Given the description of an element on the screen output the (x, y) to click on. 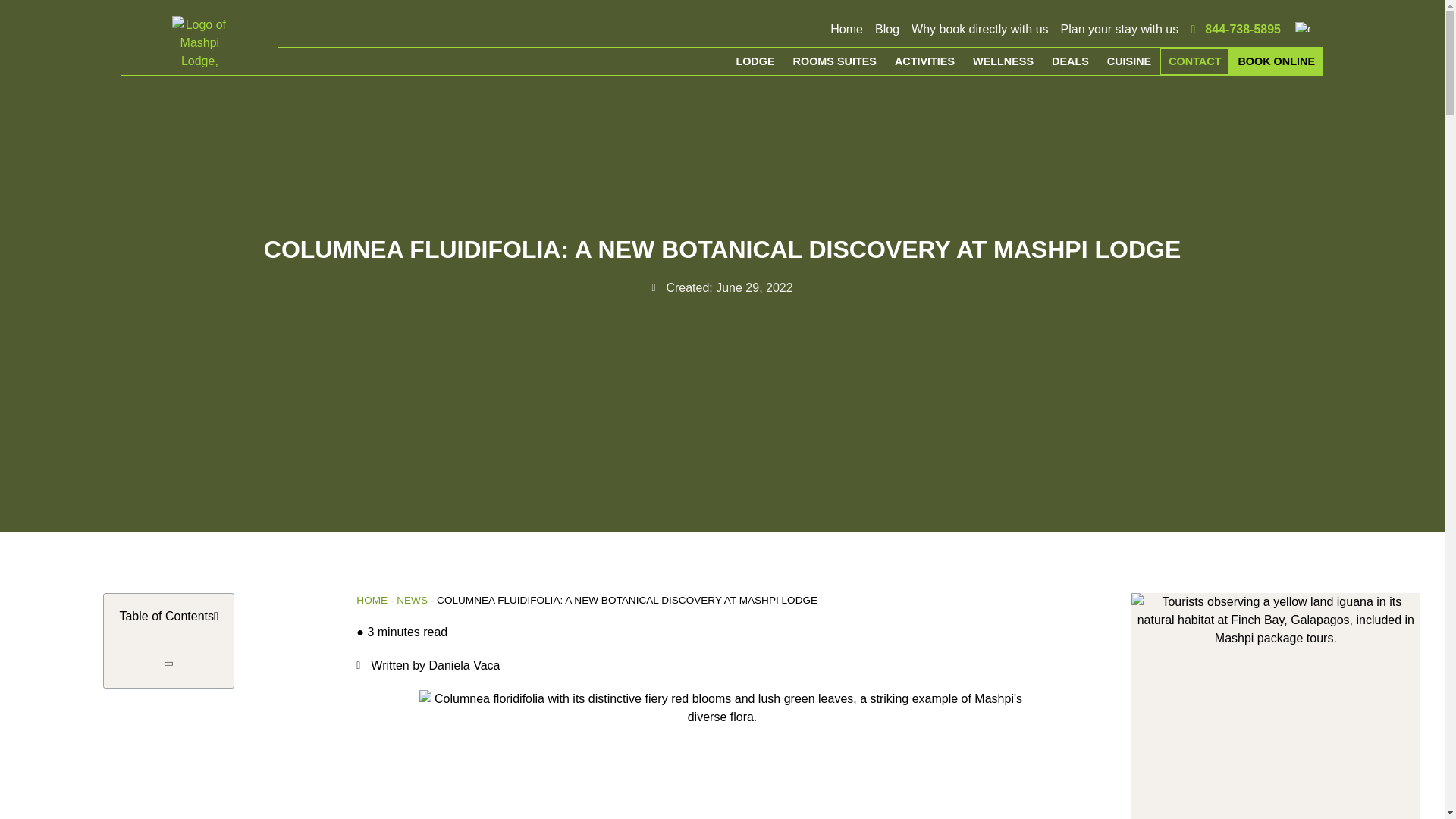
ROOMS SUITES (834, 61)
CUISINE (1128, 61)
Blog (887, 29)
Why book directly (979, 29)
Plan your stay with us (1120, 29)
LODGE (754, 61)
Plan your stay (1120, 29)
Why book directly with us (979, 29)
Home (846, 29)
DEALS (1069, 61)
